Given the description of an element on the screen output the (x, y) to click on. 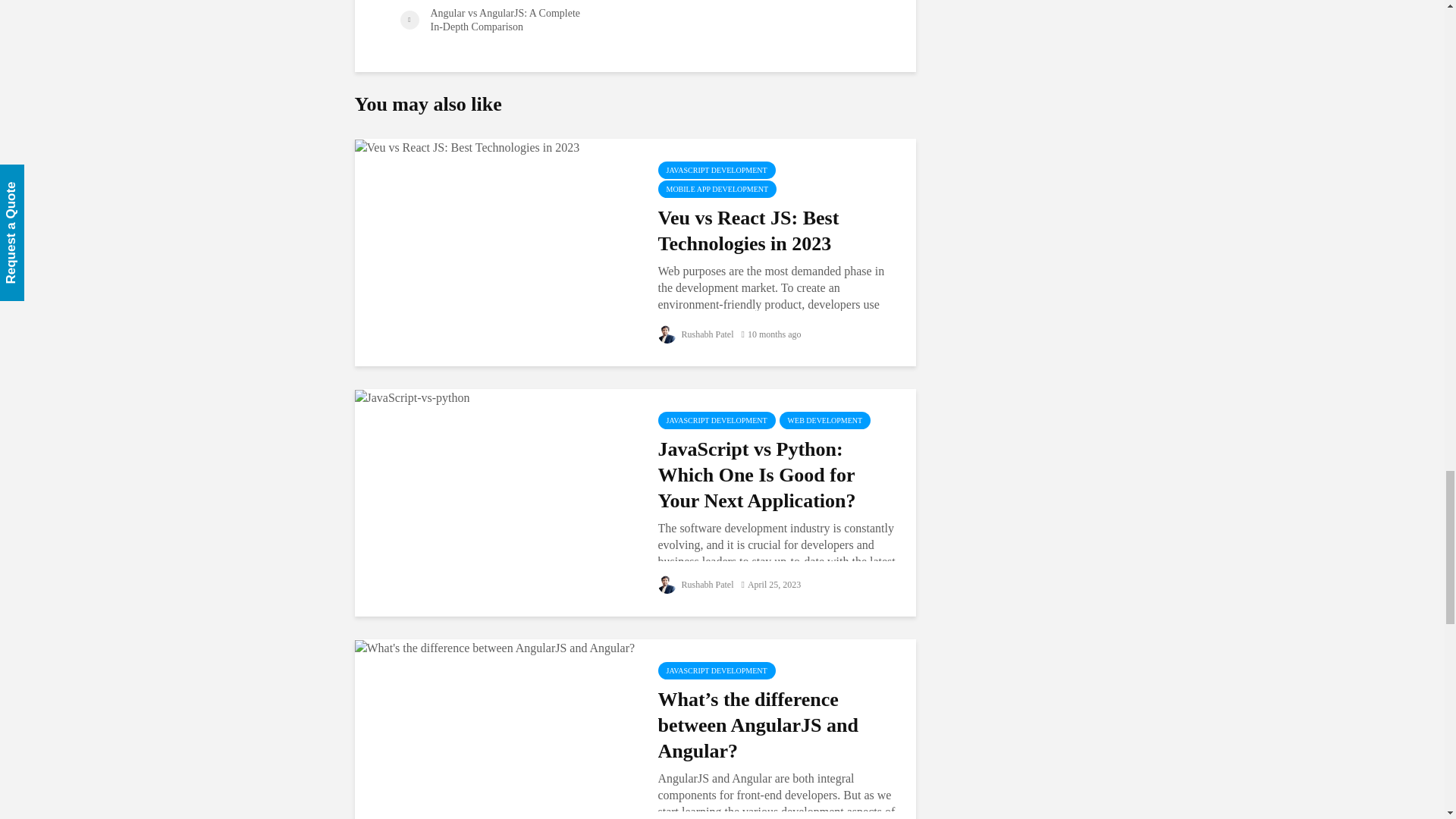
Veu vs React JS: Best Technologies in 2023 (467, 146)
